Given the description of an element on the screen output the (x, y) to click on. 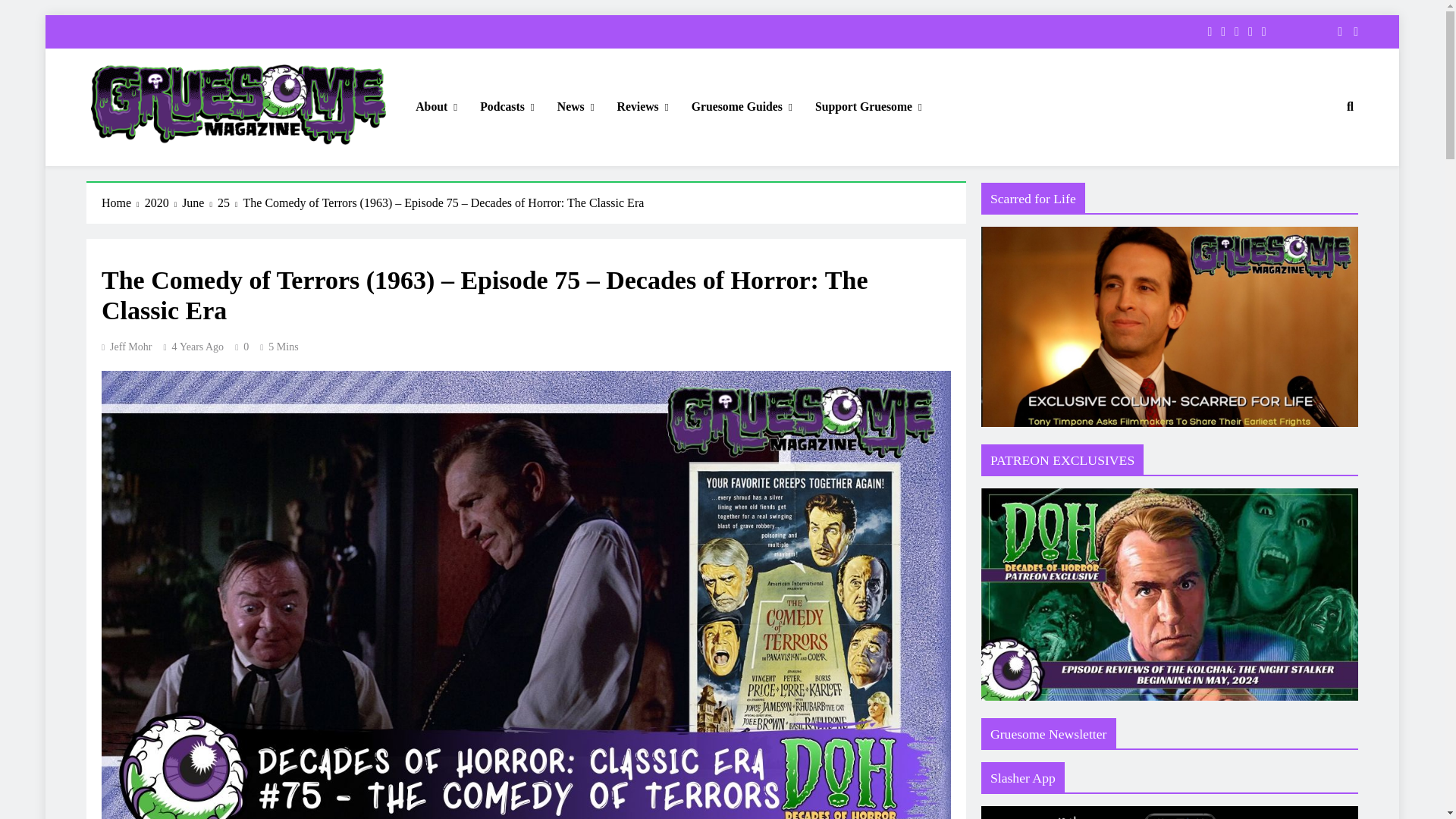
Gruesome Guides (741, 106)
Support Gruesome (868, 106)
News (575, 106)
Gruesome Magazine (187, 167)
Podcasts (507, 106)
About (436, 106)
Guides to Theatrical and Streaming Movies (741, 106)
Reviews (642, 106)
